Given the description of an element on the screen output the (x, y) to click on. 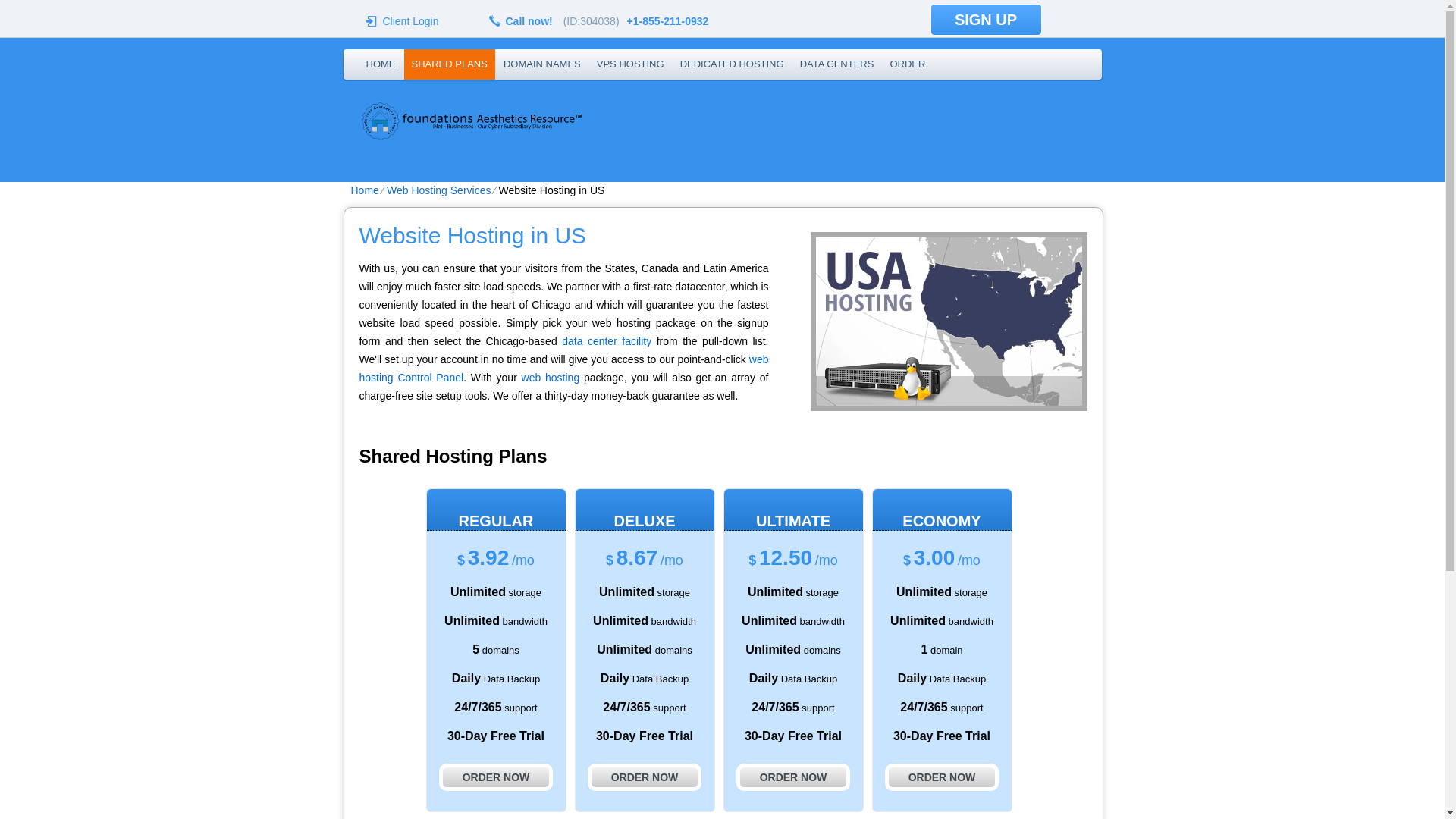
ORDER NOW (644, 777)
Client Login (411, 20)
web hosting Control Panel (563, 368)
data center facility (606, 340)
HOME (380, 64)
ORDER NOW (793, 777)
web hosting (550, 377)
Home (364, 190)
SHARED PLANS (449, 64)
ORDER NOW (941, 777)
ORDER NOW (496, 777)
Website Hosting in US (947, 321)
DATA CENTERS (837, 64)
DOMAIN NAMES (542, 64)
client login (411, 20)
